Given the description of an element on the screen output the (x, y) to click on. 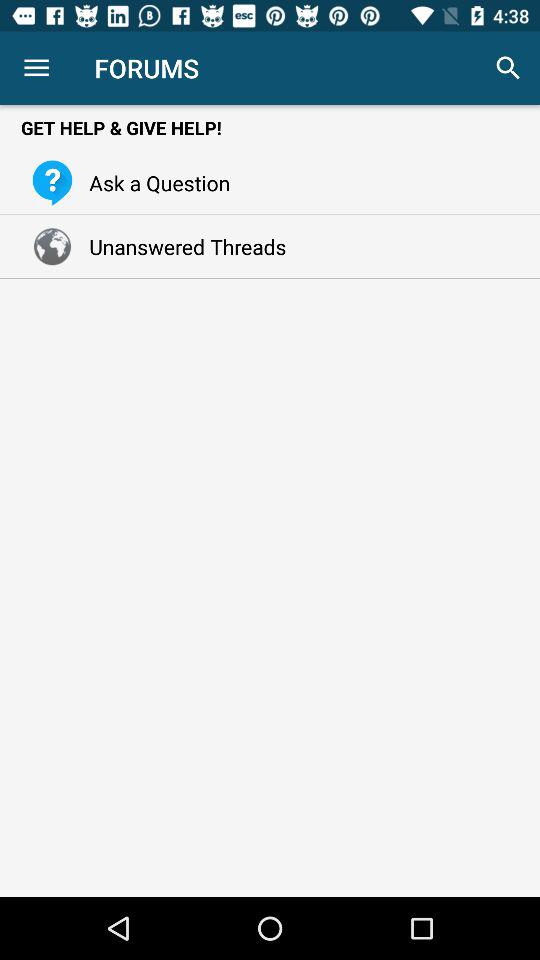
turn on the icon above the get help give item (508, 67)
